Given the description of an element on the screen output the (x, y) to click on. 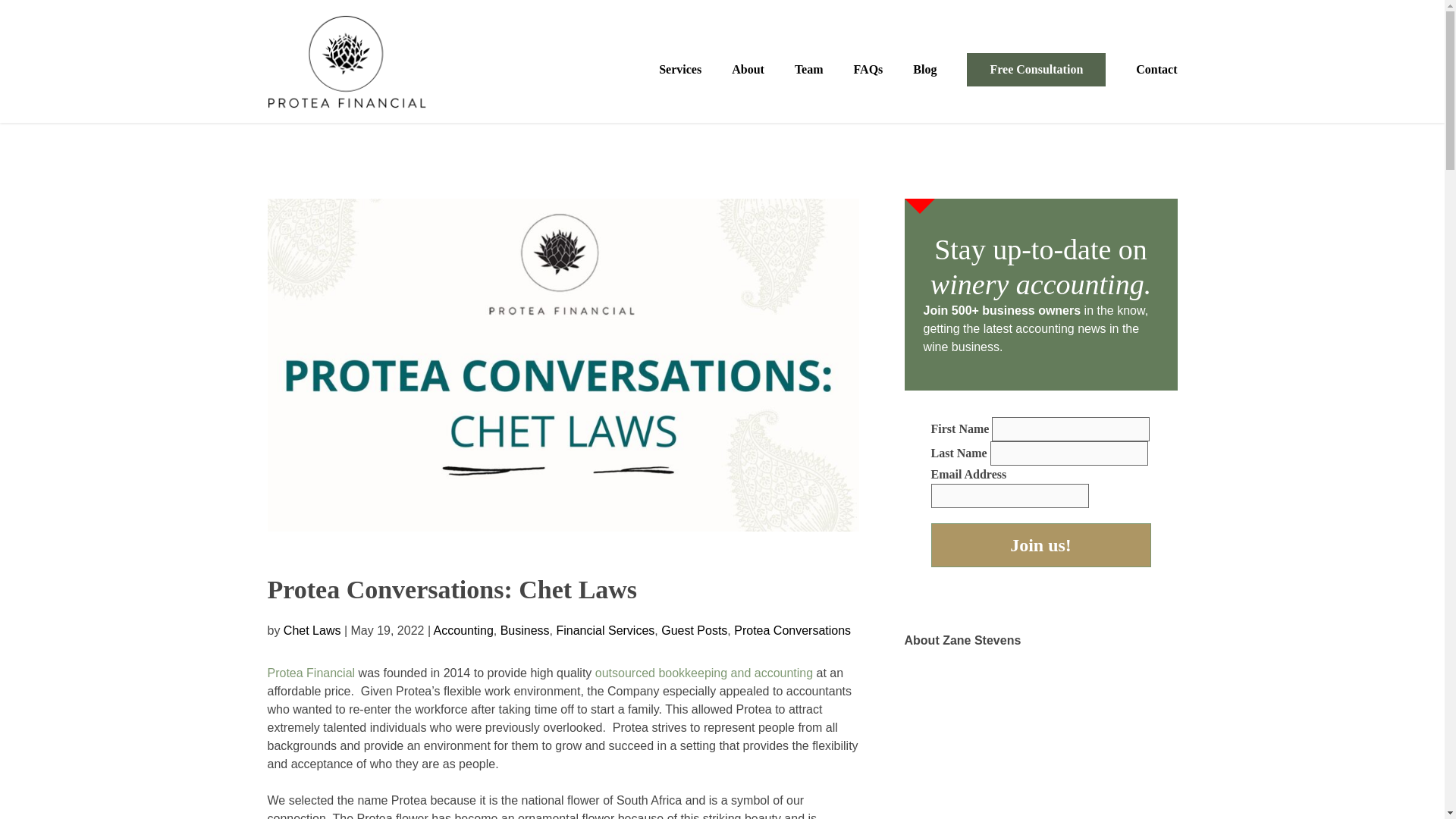
About (748, 69)
Accounting (463, 630)
Contact (1155, 69)
Financial Services (604, 630)
Chet Laws (311, 630)
Guest Posts (693, 630)
Join us! (1041, 545)
Services (680, 69)
outsourced bookkeeping and accounting (703, 672)
Free Consultation (1035, 69)
